Given the description of an element on the screen output the (x, y) to click on. 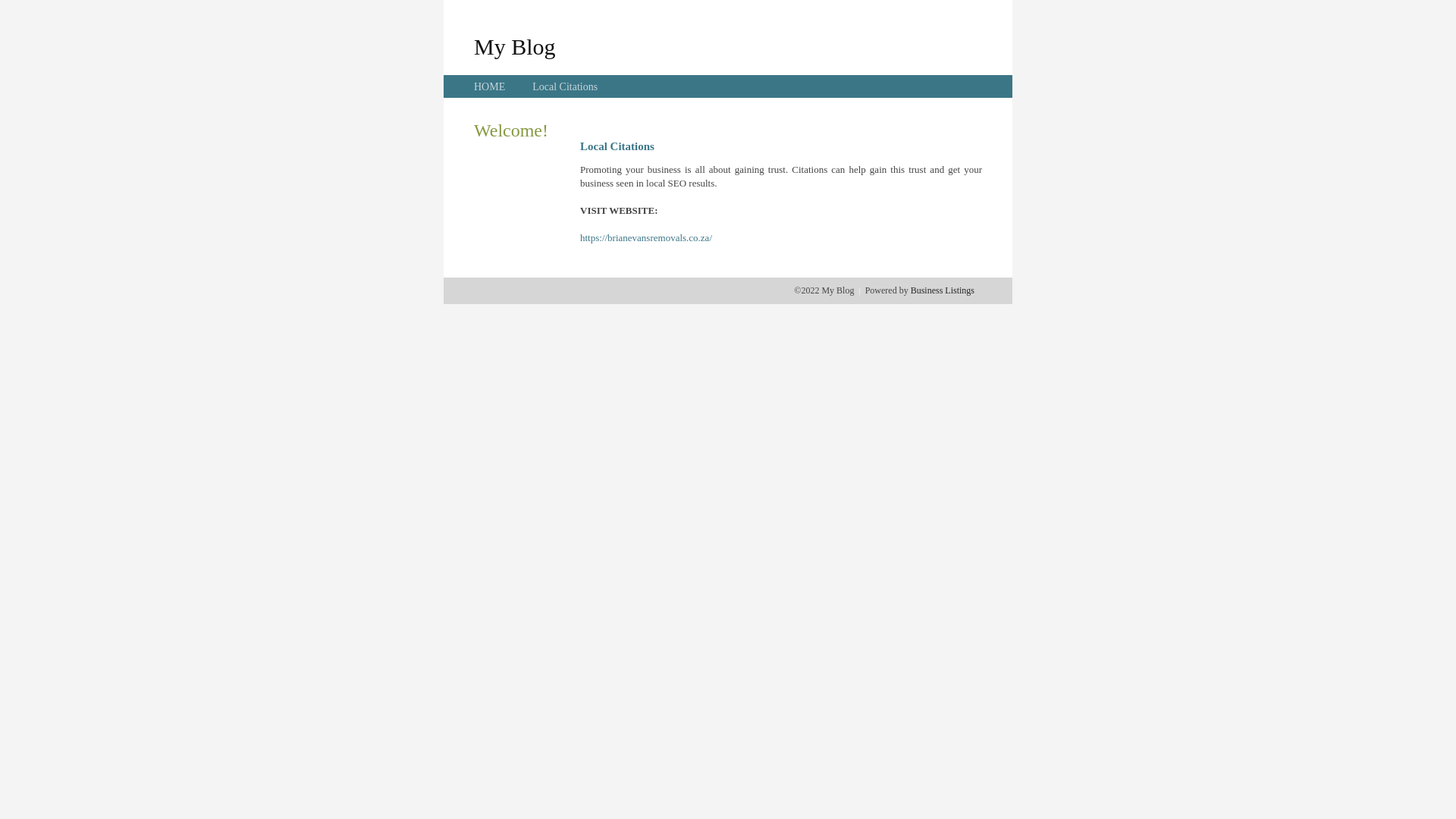
Business Listings Element type: text (942, 290)
HOME Element type: text (489, 86)
Local Citations Element type: text (564, 86)
My Blog Element type: text (514, 46)
https://brianevansremovals.co.za/ Element type: text (646, 237)
